Given the description of an element on the screen output the (x, y) to click on. 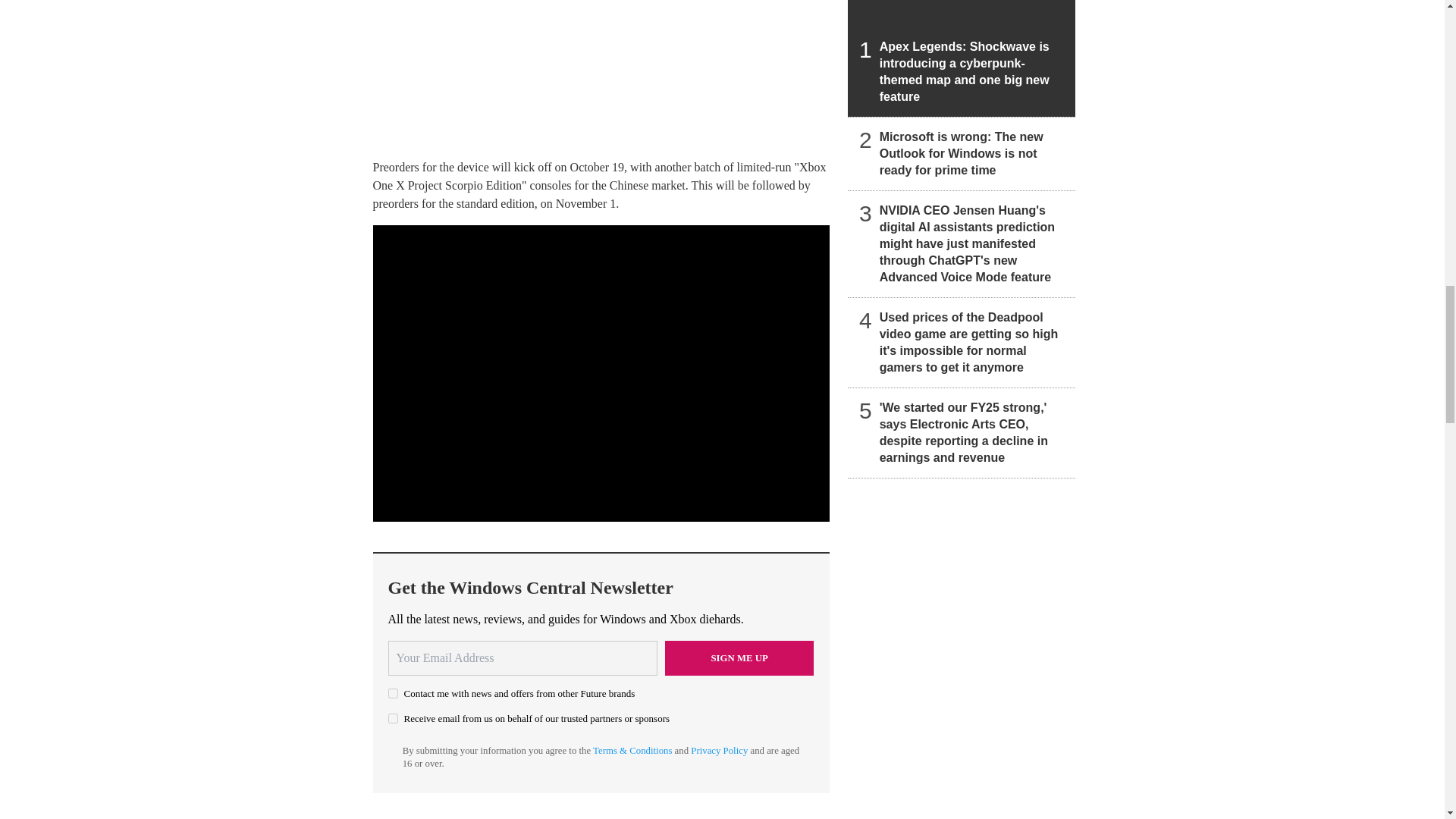
Sign me up (739, 657)
Sign me up (739, 657)
on (392, 718)
on (392, 693)
Privacy Policy (719, 750)
